Given the description of an element on the screen output the (x, y) to click on. 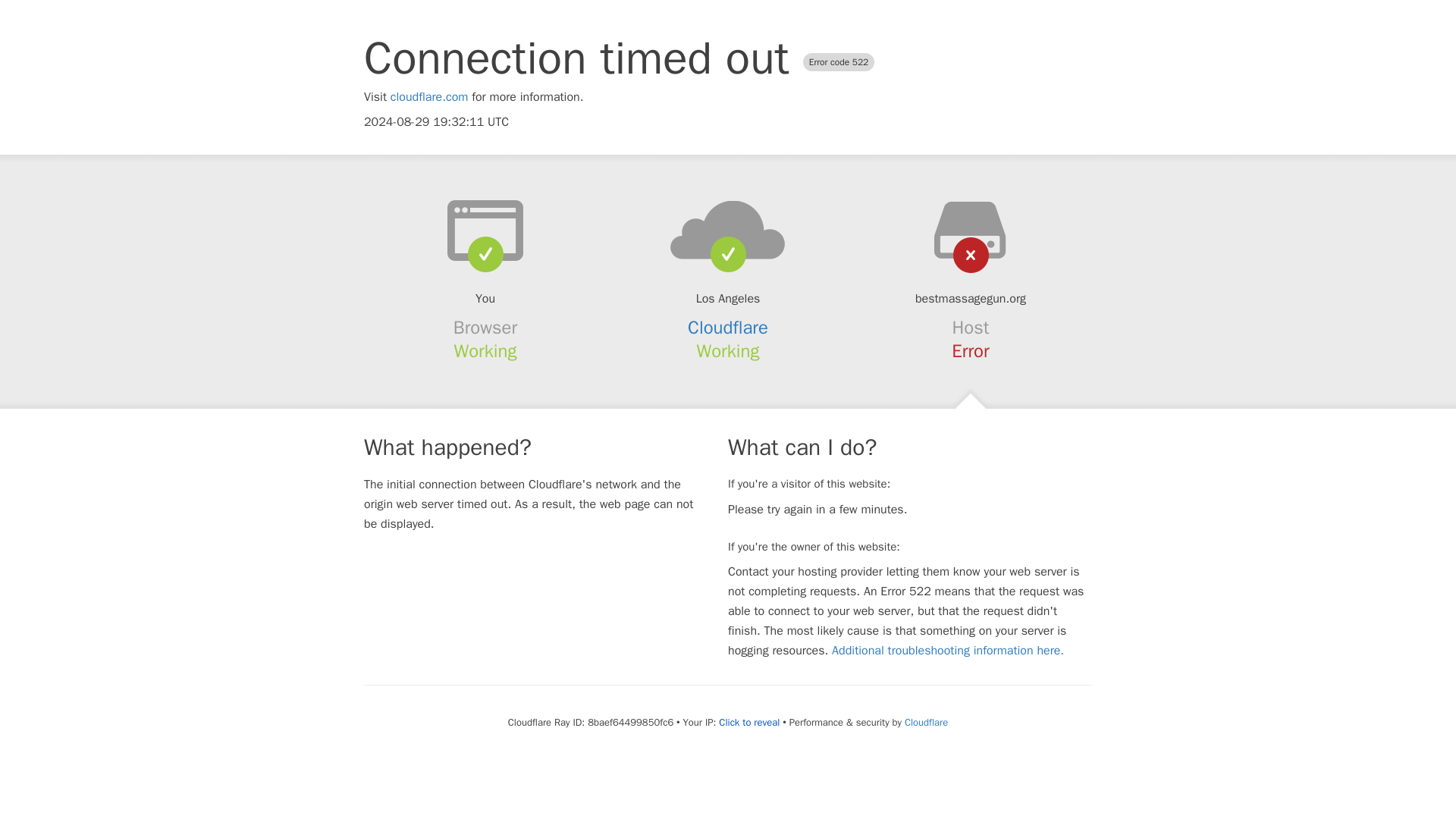
Cloudflare (727, 327)
Click to reveal (748, 722)
cloudflare.com (429, 96)
Additional troubleshooting information here. (947, 650)
Cloudflare (925, 721)
